Given the description of an element on the screen output the (x, y) to click on. 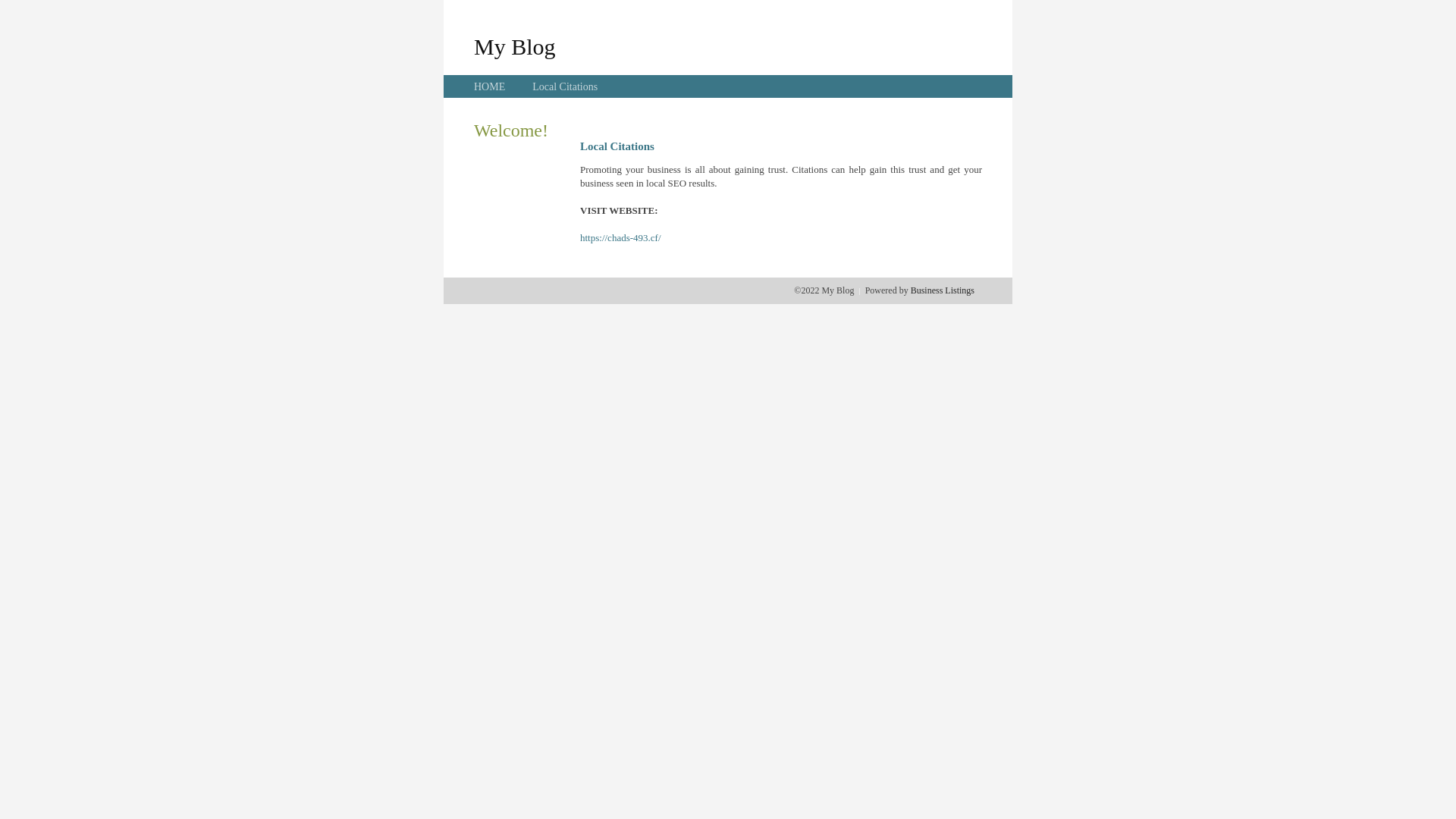
My Blog Element type: text (514, 46)
HOME Element type: text (489, 86)
https://chads-493.cf/ Element type: text (620, 237)
Local Citations Element type: text (564, 86)
Business Listings Element type: text (942, 290)
